Given the description of an element on the screen output the (x, y) to click on. 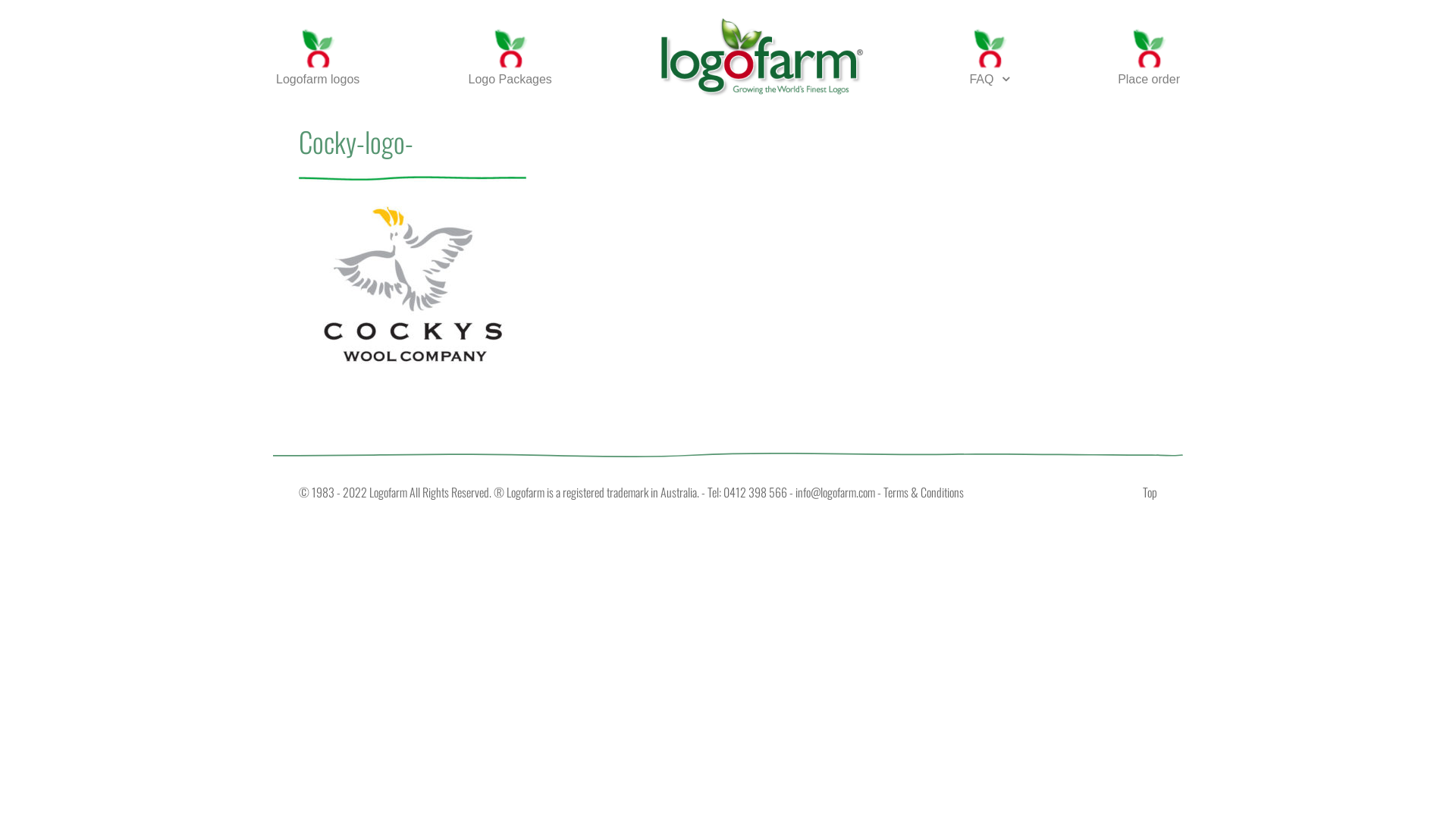
Logofarm logos Element type: text (317, 54)
Logo Packages Element type: text (510, 54)
Place order Element type: text (1148, 54)
Top Element type: text (1149, 492)
info@logofarm.com Element type: text (835, 492)
Terms & Conditions Element type: text (923, 492)
FAQ Element type: text (988, 54)
